Given the description of an element on the screen output the (x, y) to click on. 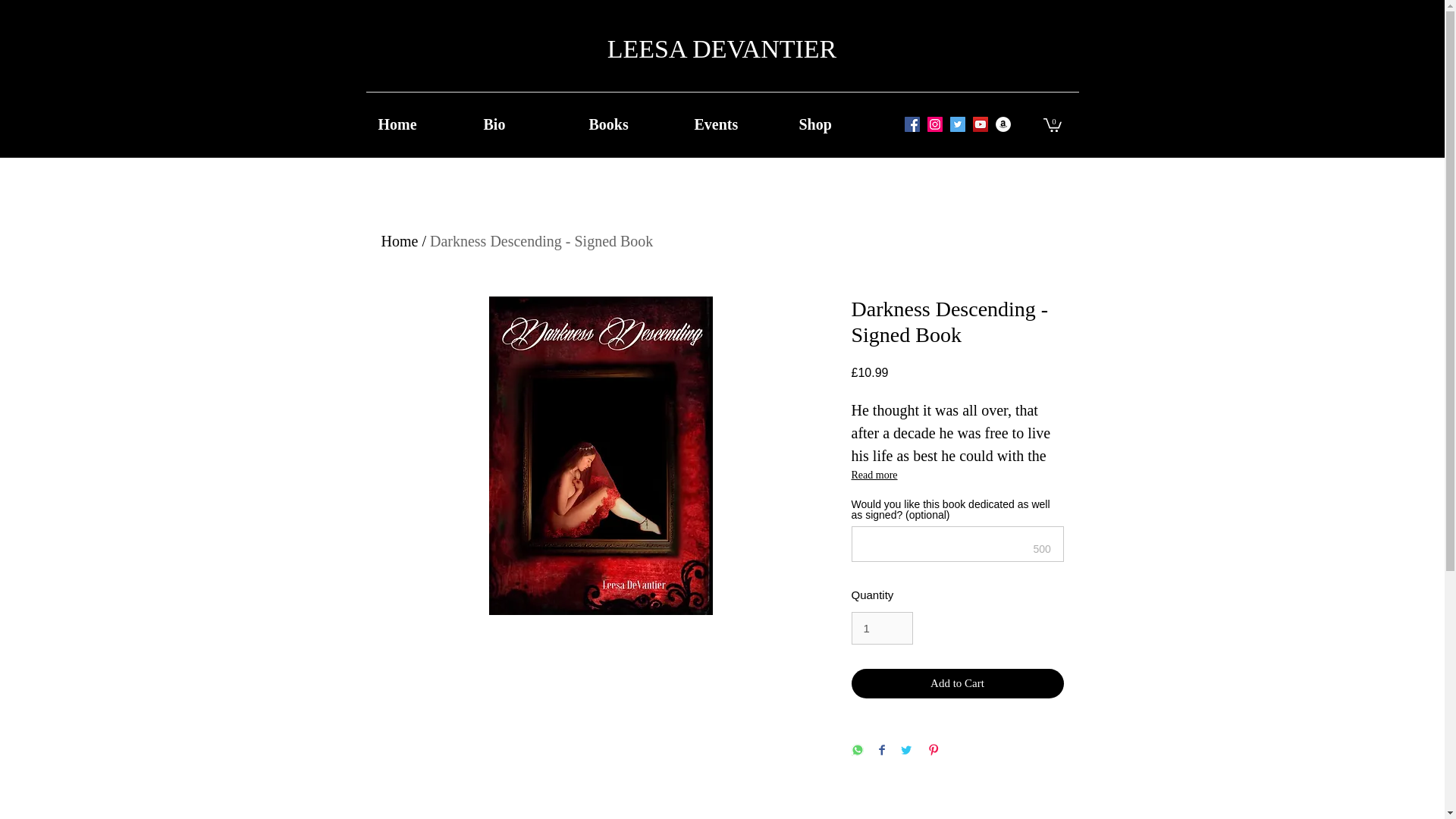
1 (881, 628)
Shop (844, 123)
Darkness Descending - Signed Book (540, 240)
Books (632, 123)
Add to Cart (956, 683)
Events (739, 123)
Bio (528, 123)
Home (422, 123)
LEESA DEVANTIER (722, 49)
Home (398, 240)
0 (1052, 124)
Read more (956, 475)
0 (1052, 124)
